Given the description of an element on the screen output the (x, y) to click on. 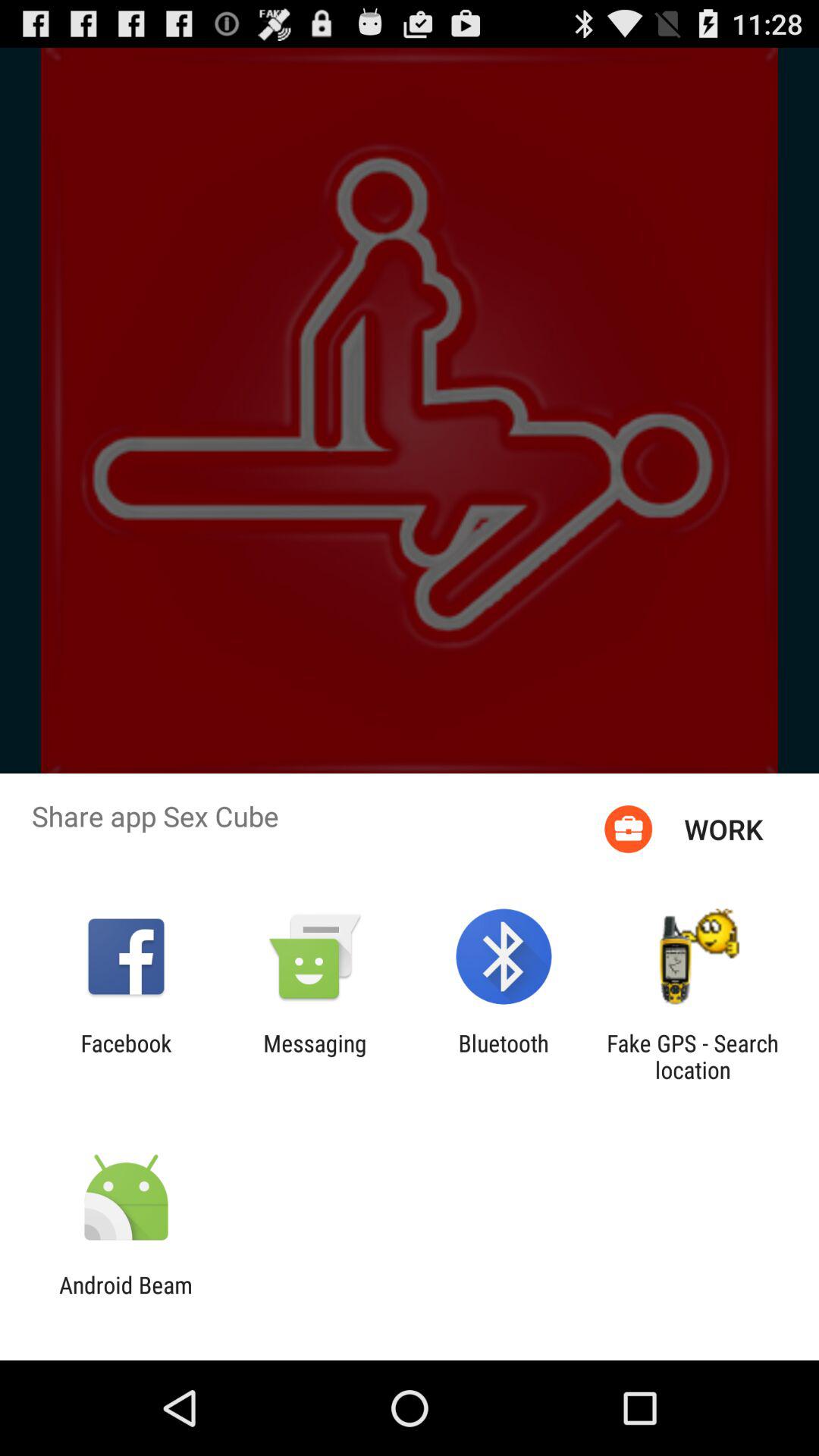
tap item to the left of fake gps search icon (503, 1056)
